Given the description of an element on the screen output the (x, y) to click on. 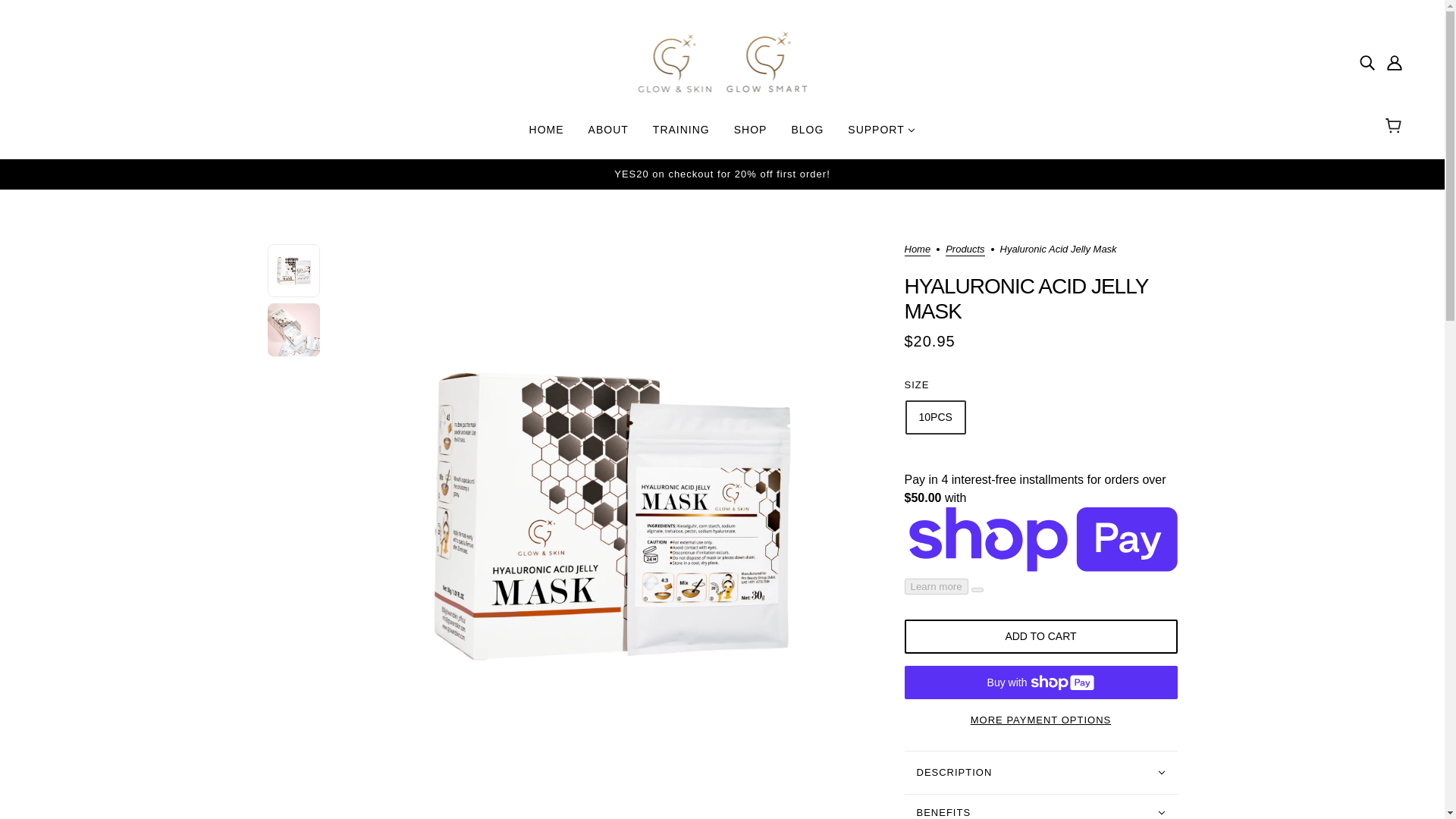
TRAINING (681, 135)
BLOG (806, 135)
MORE PAYMENT OPTIONS (1040, 714)
SHOP (750, 135)
BENEFITS (1040, 805)
Home (917, 250)
SUPPORT (881, 135)
ABOUT (608, 135)
HOME (546, 135)
Products (964, 250)
ADD TO CART (1040, 636)
DESCRIPTION (1040, 772)
